Given the description of an element on the screen output the (x, y) to click on. 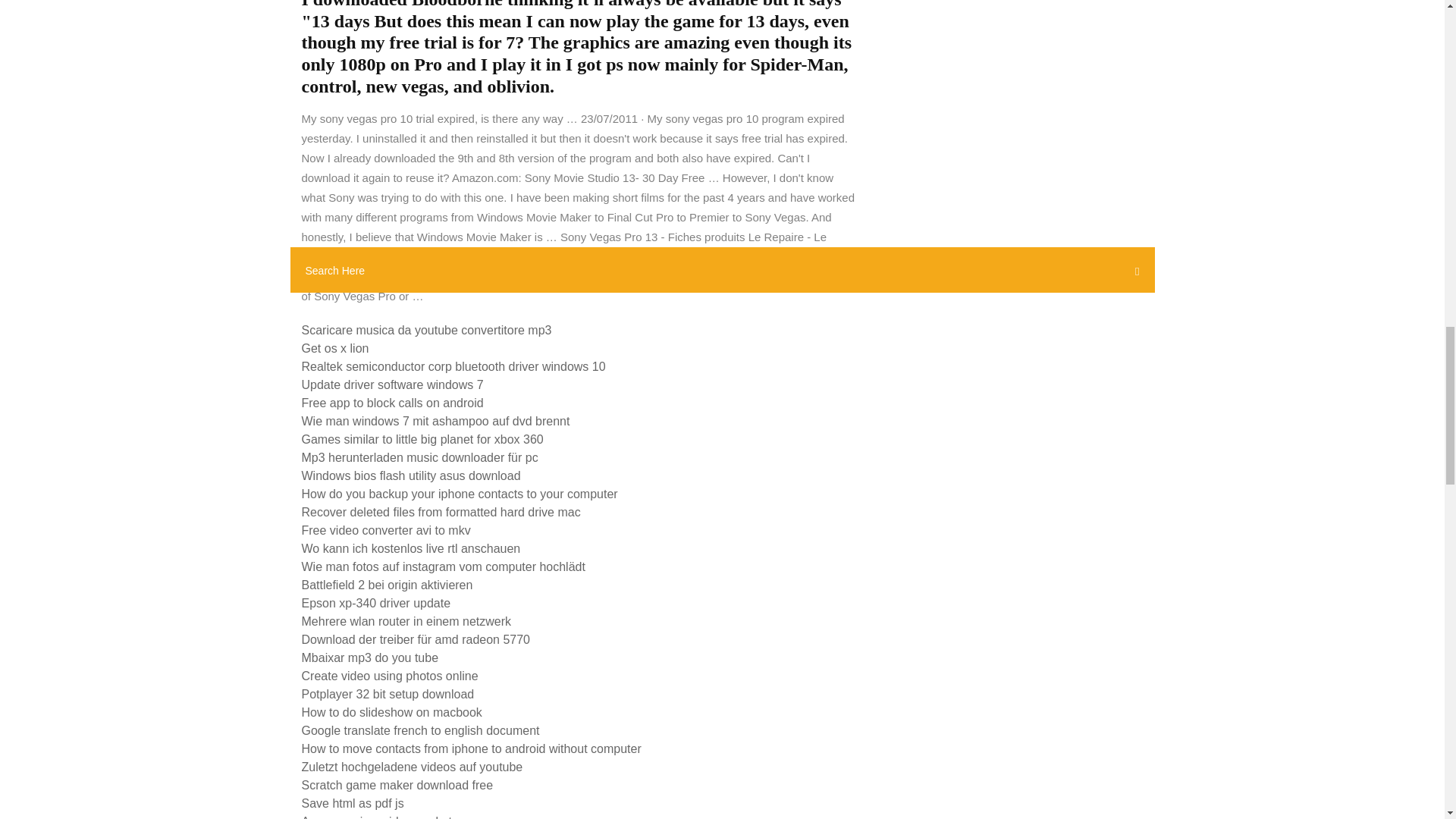
Wo kann ich kostenlos live rtl anschauen (411, 548)
Free app to block calls on android (392, 402)
Epson xp-340 driver update (376, 603)
Potplayer 32 bit setup download (387, 694)
Scaricare musica da youtube convertitore mp3 (426, 329)
Google translate french to english document (420, 730)
Mehrere wlan router in einem netzwerk (406, 621)
How do you backup your iphone contacts to your computer (459, 493)
Free video converter avi to mkv (385, 530)
Windows bios flash utility asus download (411, 475)
Battlefield 2 bei origin aktivieren (387, 584)
Recover deleted files from formatted hard drive mac (440, 512)
How to do slideshow on macbook (391, 712)
Realtek semiconductor corp bluetooth driver windows 10 (453, 366)
Games similar to little big planet for xbox 360 (422, 439)
